Given the description of an element on the screen output the (x, y) to click on. 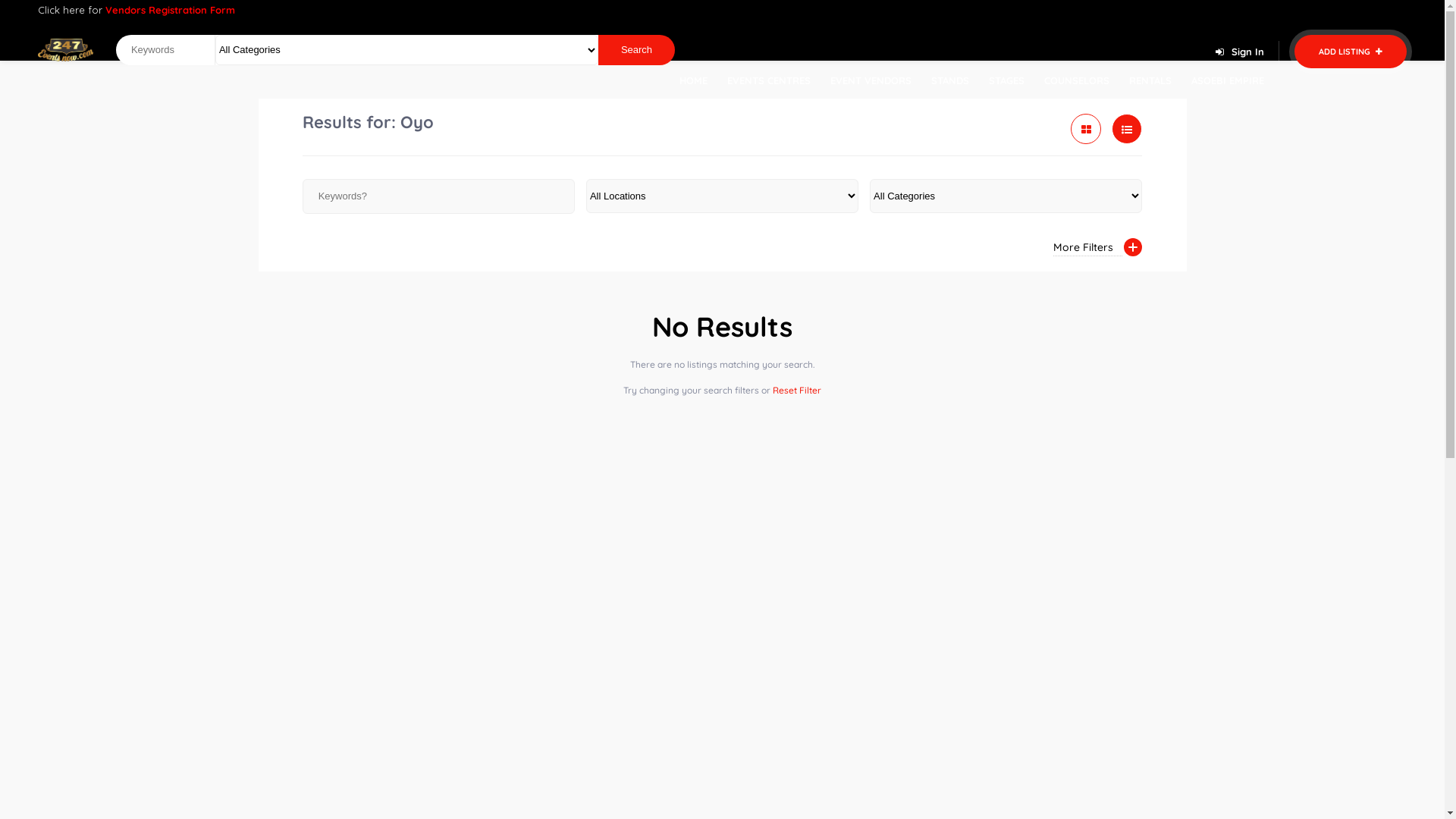
Search Element type: text (636, 49)
Reset Filter Element type: text (796, 389)
STAGES Element type: text (1006, 80)
ASOEBI EMPIRE Element type: text (1227, 80)
HOME Element type: text (693, 80)
EVENTS CENTRES Element type: text (768, 80)
RENTALS Element type: text (1150, 80)
Vendors Registration Form Element type: text (170, 9)
STANDS Element type: text (949, 80)
EVENT VENDORS Element type: text (870, 80)
COUNSELORS Element type: text (1076, 80)
ADD LISTING Element type: text (1350, 51)
